Given the description of an element on the screen output the (x, y) to click on. 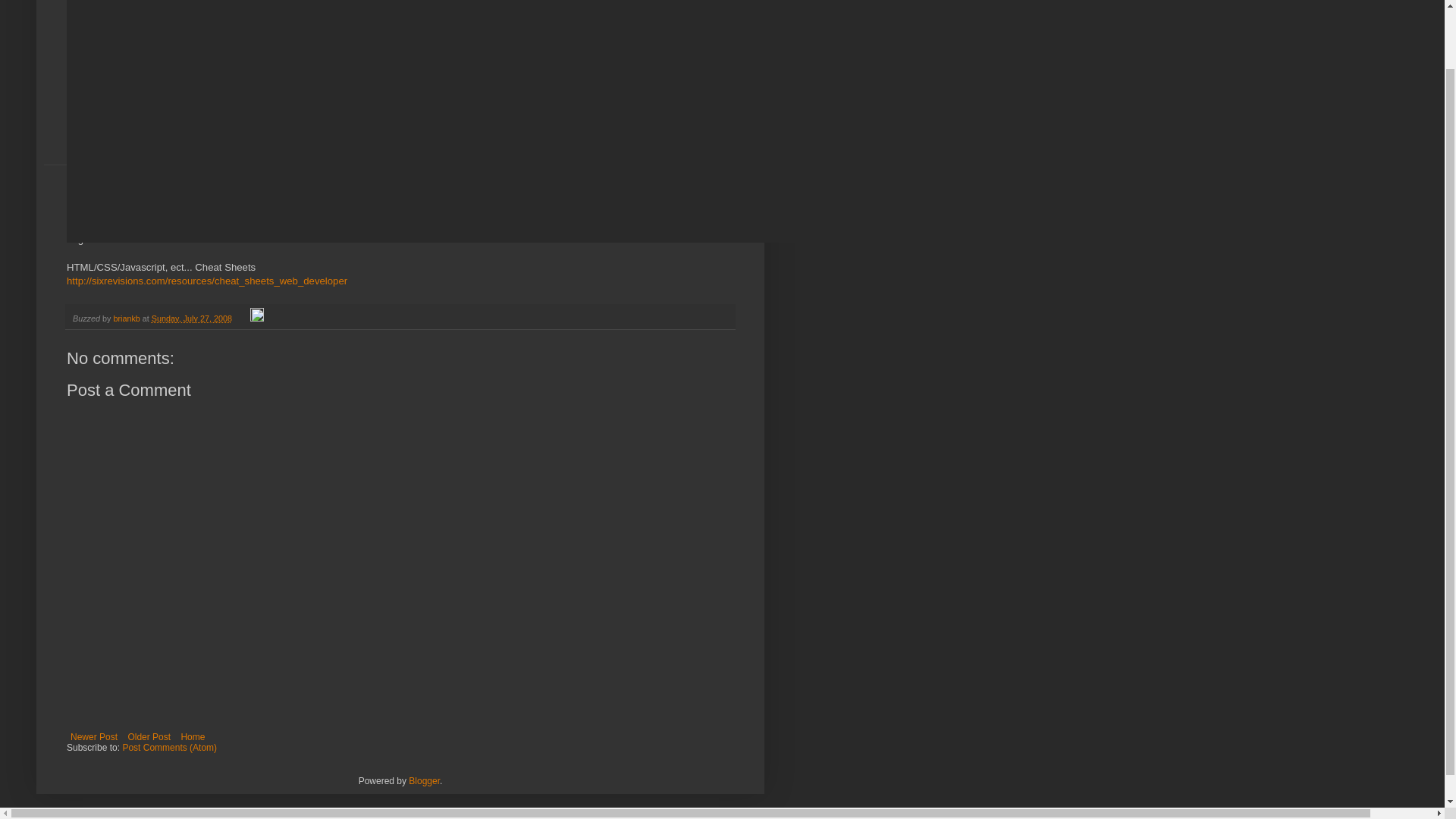
Older Post (148, 737)
Newer Post (93, 737)
permanent link (191, 317)
Blogger (424, 780)
YouTube (210, 238)
Home (192, 737)
Email Post (242, 317)
author profile (127, 317)
Edit Post (256, 317)
Sunday, July 27, 2008 (191, 317)
briankb (127, 317)
DeveloperBuzz (220, 50)
Newer Post (93, 737)
Older Post (148, 737)
